Given the description of an element on the screen output the (x, y) to click on. 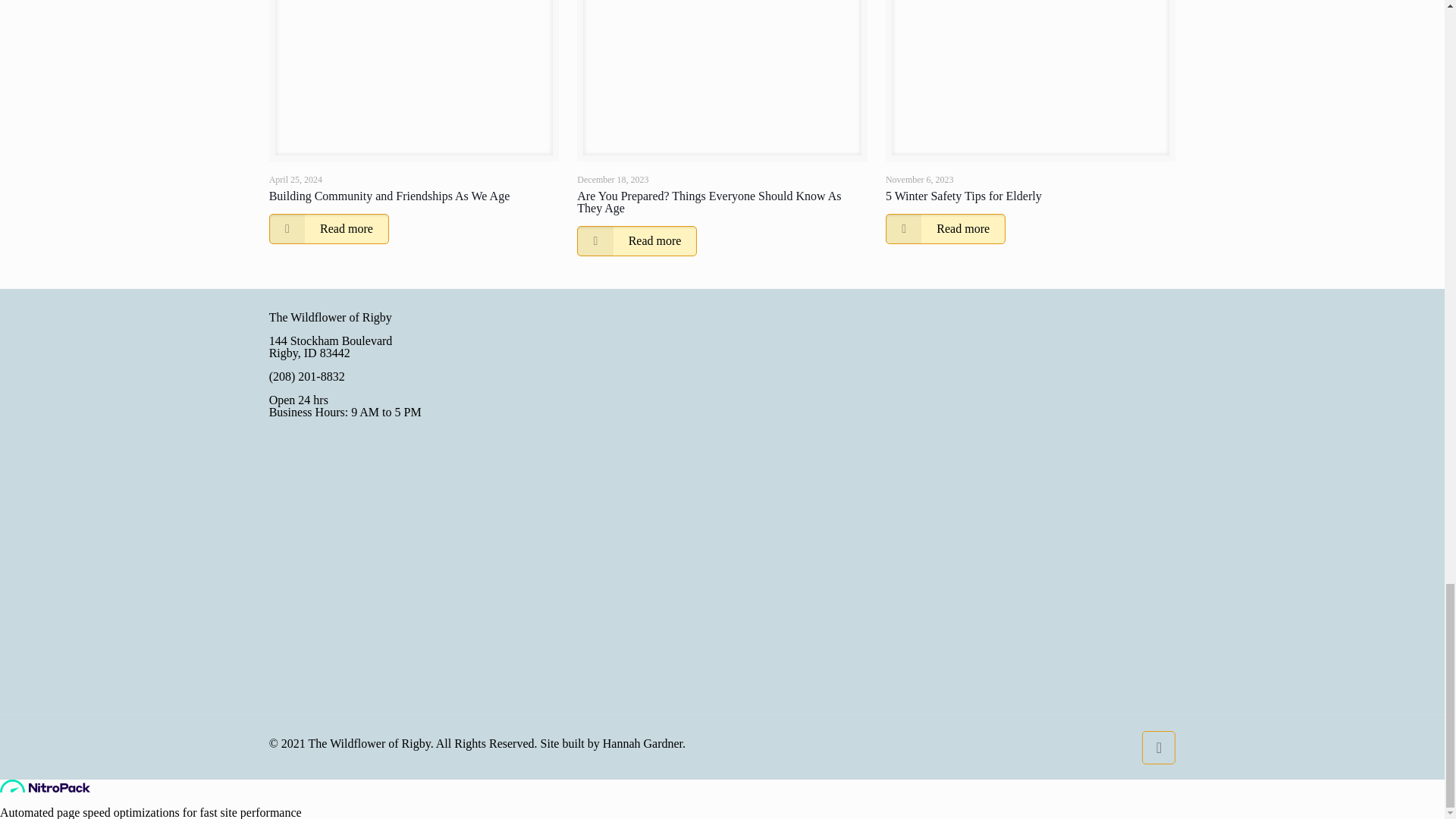
Pinterest (320, 667)
LinkedIn (355, 667)
Facebook (287, 667)
Instagram (389, 667)
